Given the description of an element on the screen output the (x, y) to click on. 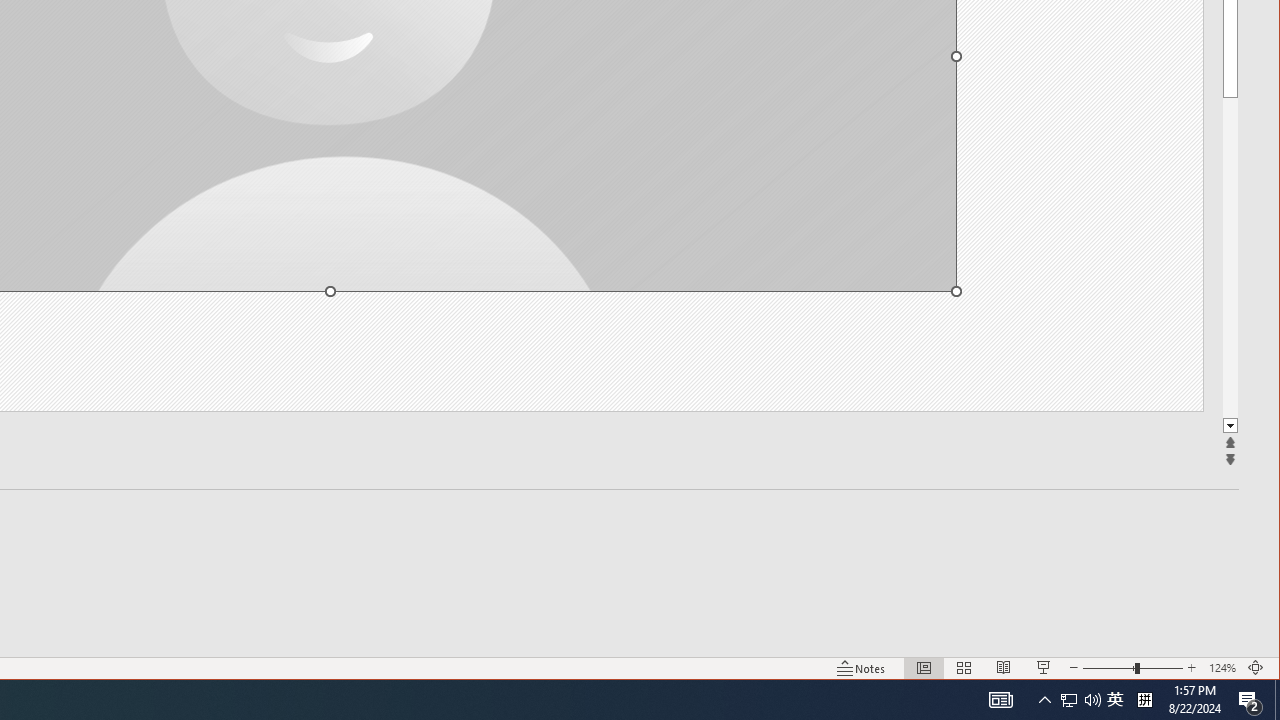
Tray Input Indicator - Chinese (Simplified, China) (1144, 699)
Action Center, 2 new notifications (1250, 699)
AutomationID: 4105 (1000, 699)
